Given the description of an element on the screen output the (x, y) to click on. 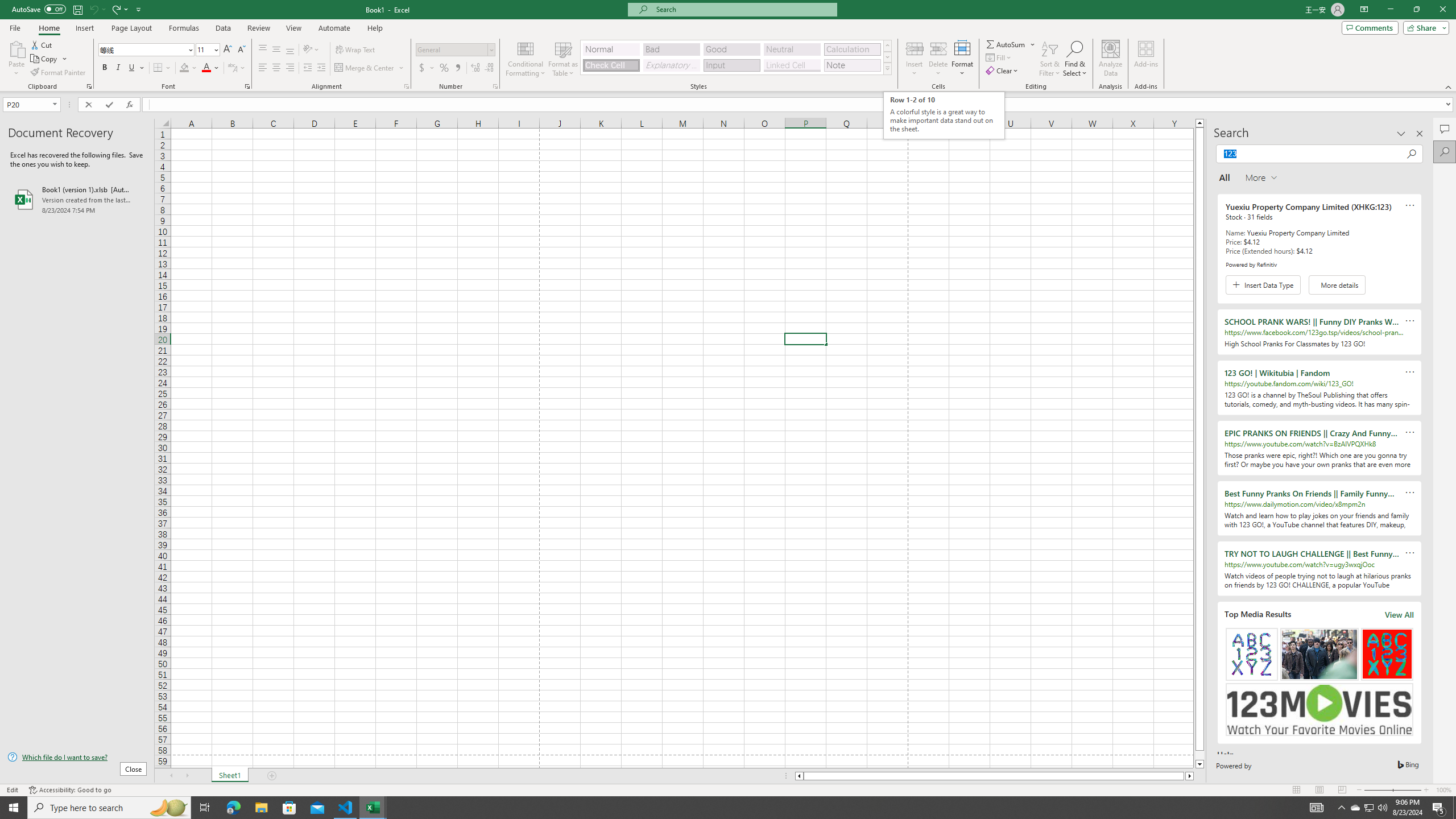
Delete Cells... (938, 48)
Wrap Text (355, 49)
Cell Styles (887, 68)
Format (962, 58)
Font (142, 49)
Good (731, 49)
Comma Style (457, 67)
